Given the description of an element on the screen output the (x, y) to click on. 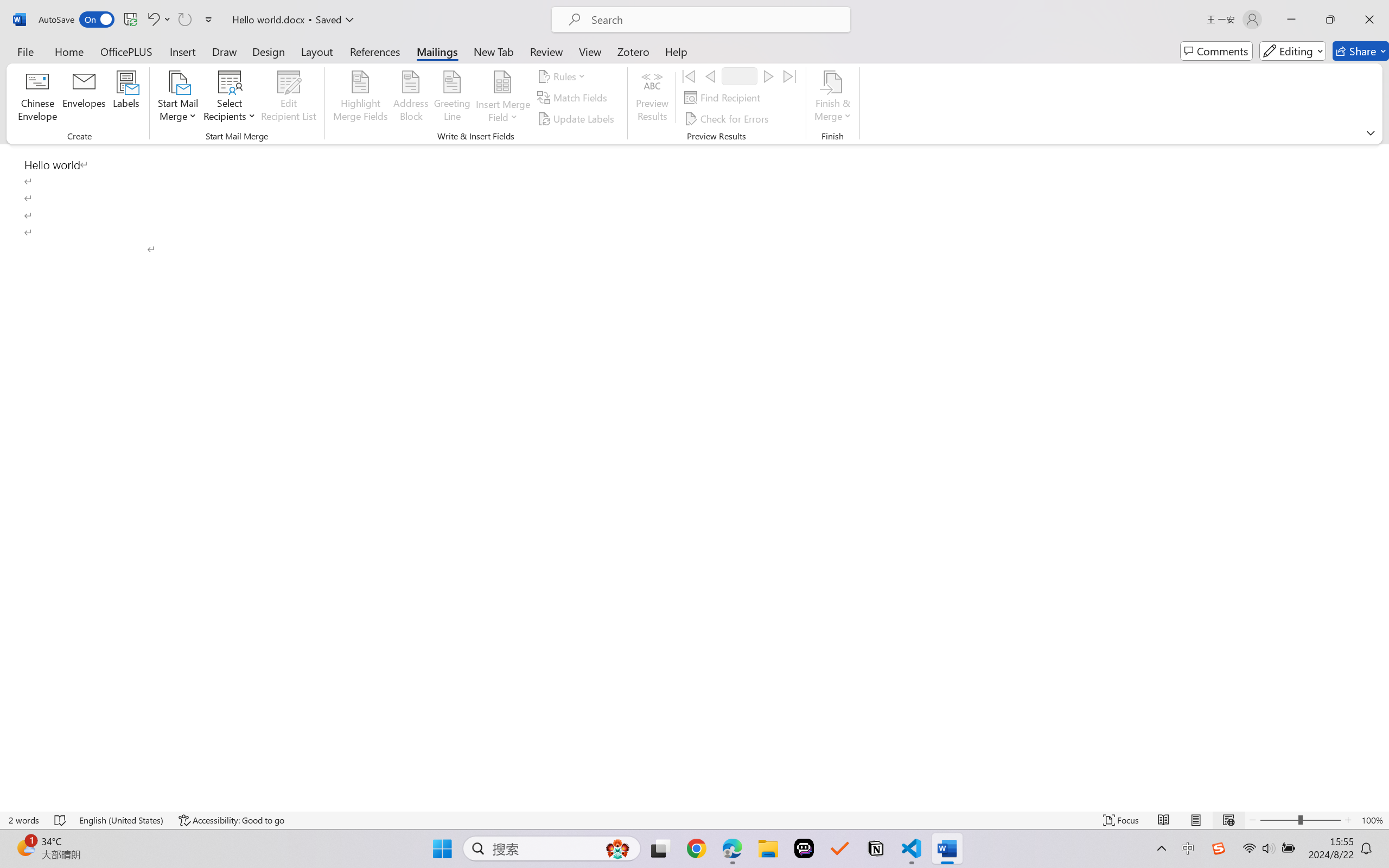
Class: MsoCommandBar (694, 72)
Edit Recipient List... (288, 97)
Accessibility Checker Accessibility: Good to go (231, 819)
Greeting Line... (451, 97)
Preview Results (652, 97)
First (688, 75)
Review (546, 51)
Home (69, 51)
Class: NetUIScrollBar (1382, 477)
AutoSave (76, 19)
Last (790, 75)
Print Layout (1196, 819)
Finish & Merge (832, 97)
Select Recipients (229, 97)
